Given the description of an element on the screen output the (x, y) to click on. 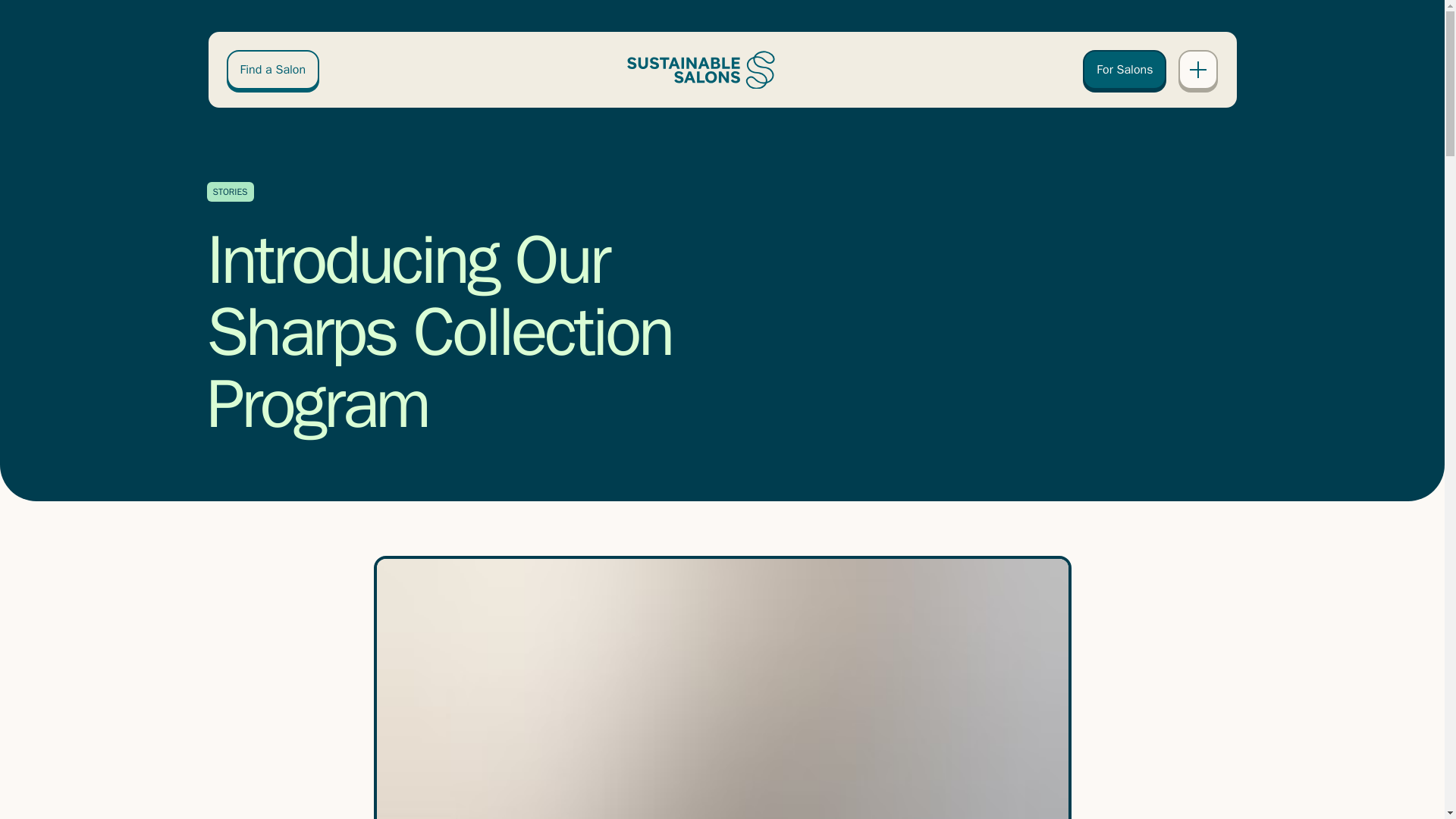
For Salons (1124, 69)
Find a Salon (271, 69)
Go to home page (700, 69)
